Given the description of an element on the screen output the (x, y) to click on. 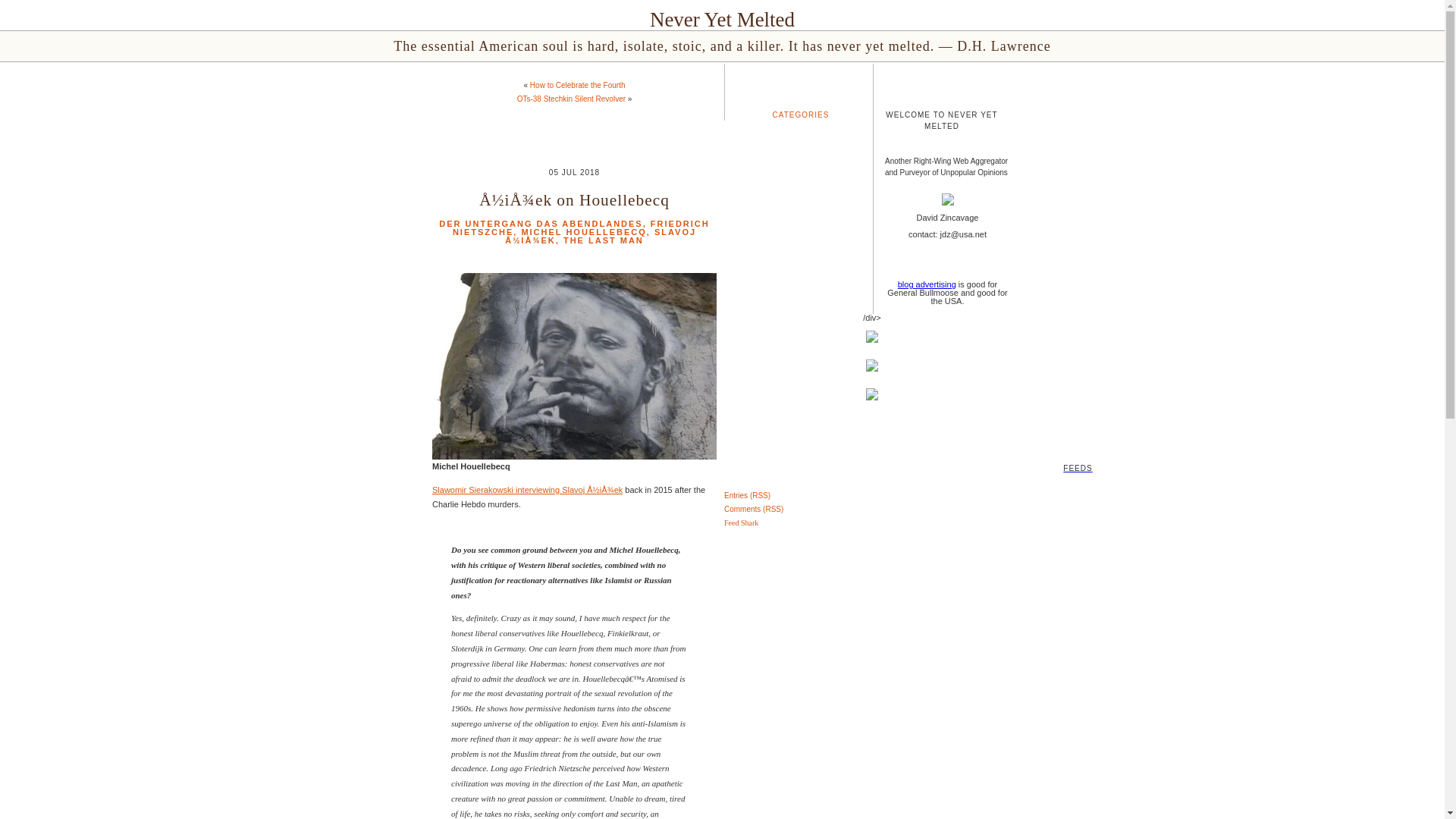
Feed Shark (740, 522)
Never Yet Melted (721, 19)
THE LAST MAN (603, 239)
FEEDS (721, 445)
blog advertising (927, 284)
FRIEDRICH NIETSZCHE (581, 227)
OTs-38 Stechkin Silent Revolver (571, 99)
How to Celebrate the Fourth (577, 85)
DER UNTERGANG DAS ABENDLANDES (540, 223)
MICHEL HOUELLEBECQ (583, 231)
CATEGORIES (801, 114)
